Given the description of an element on the screen output the (x, y) to click on. 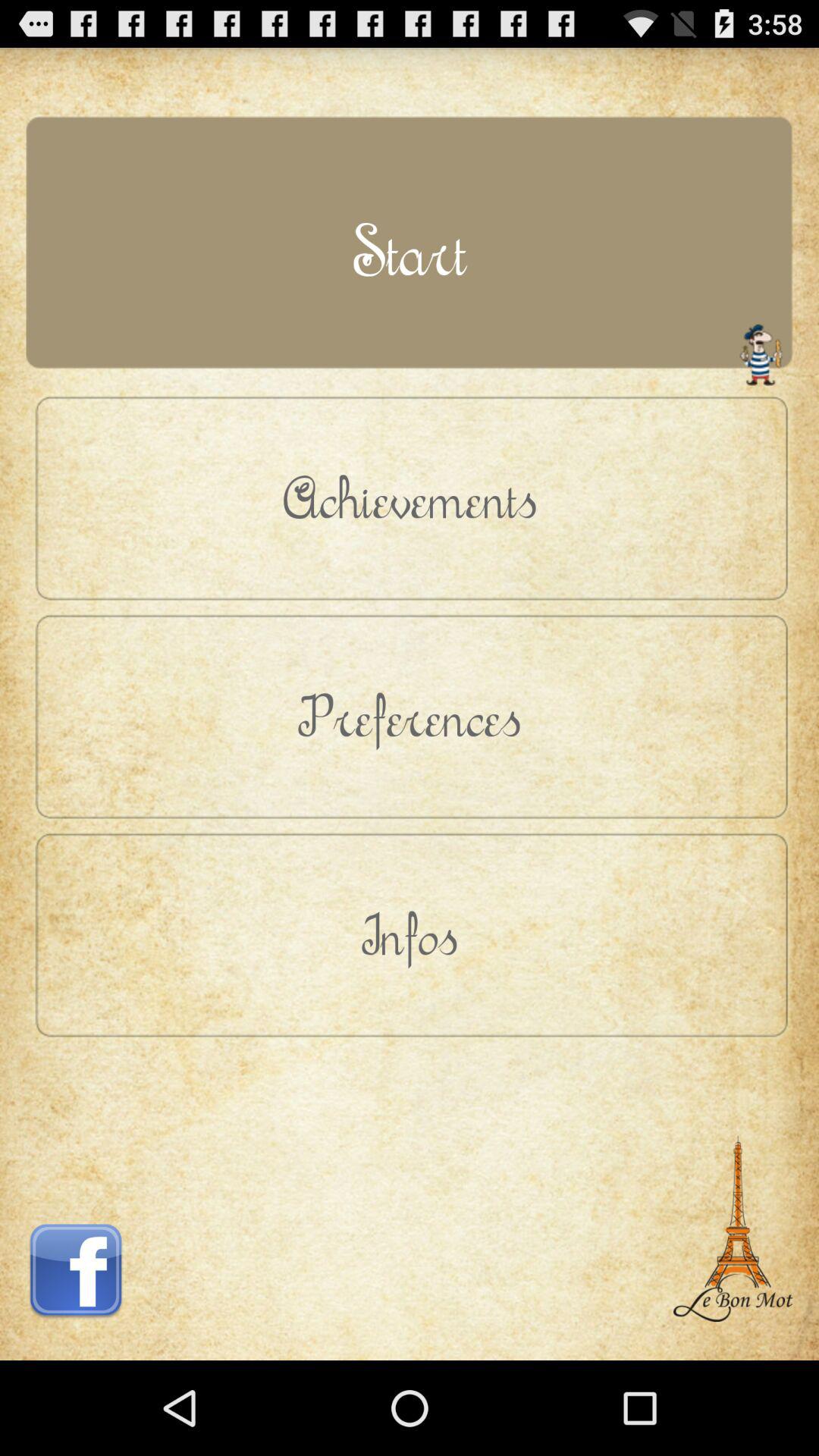
tap icon below achievements icon (409, 716)
